Given the description of an element on the screen output the (x, y) to click on. 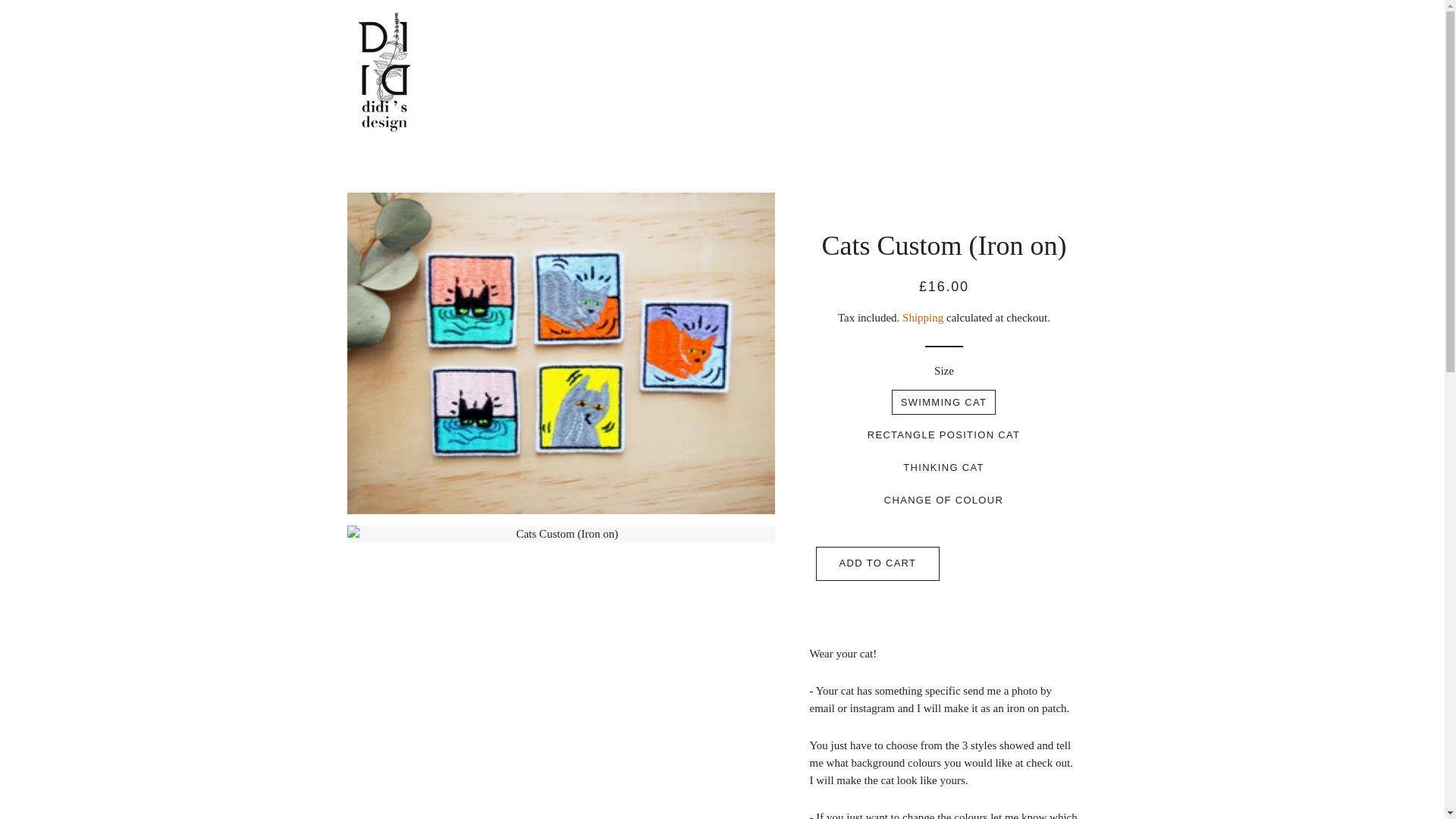
ADD TO CART (877, 563)
Shipping (922, 317)
